Given the description of an element on the screen output the (x, y) to click on. 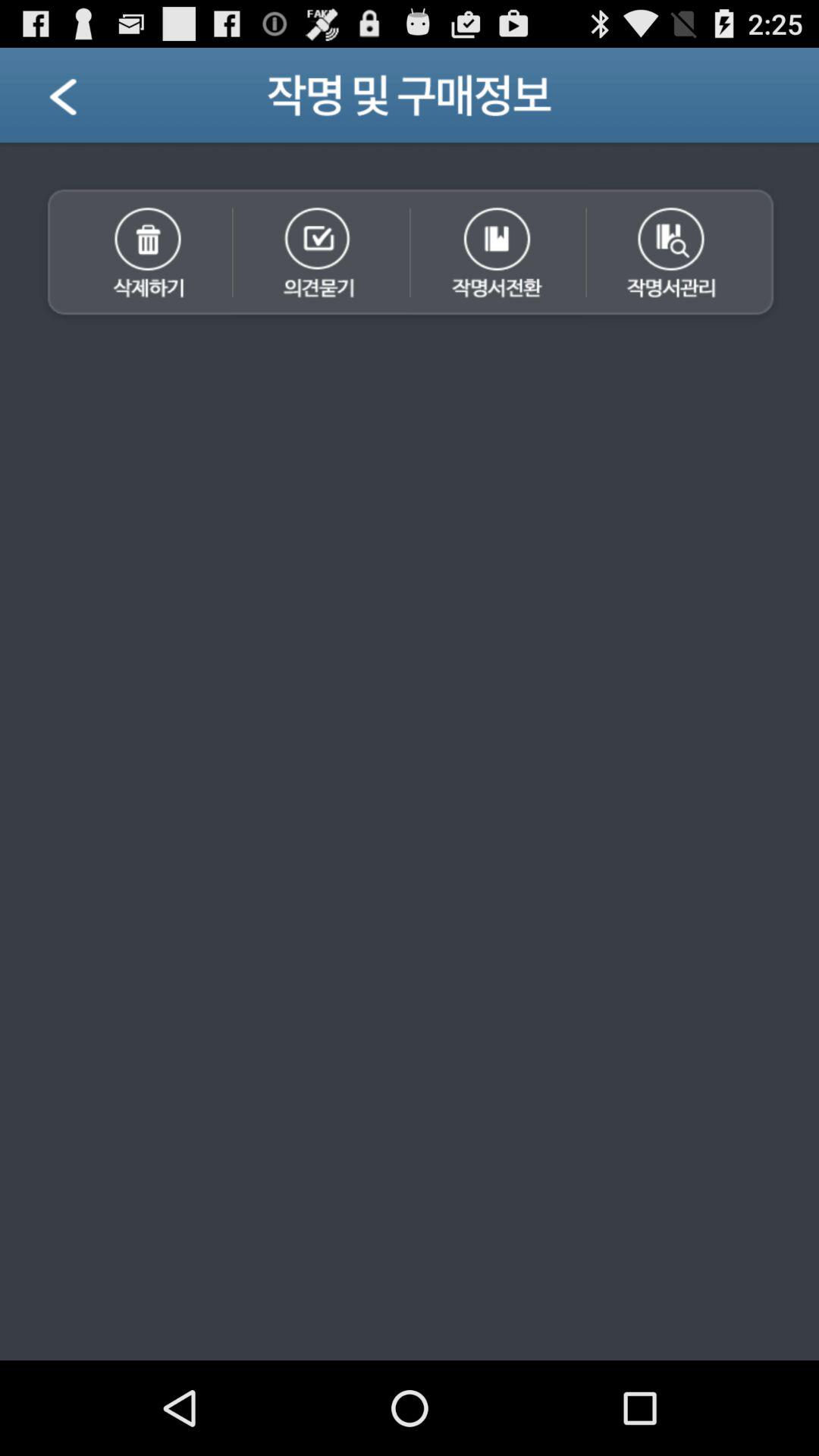
go back (81, 101)
